Given the description of an element on the screen output the (x, y) to click on. 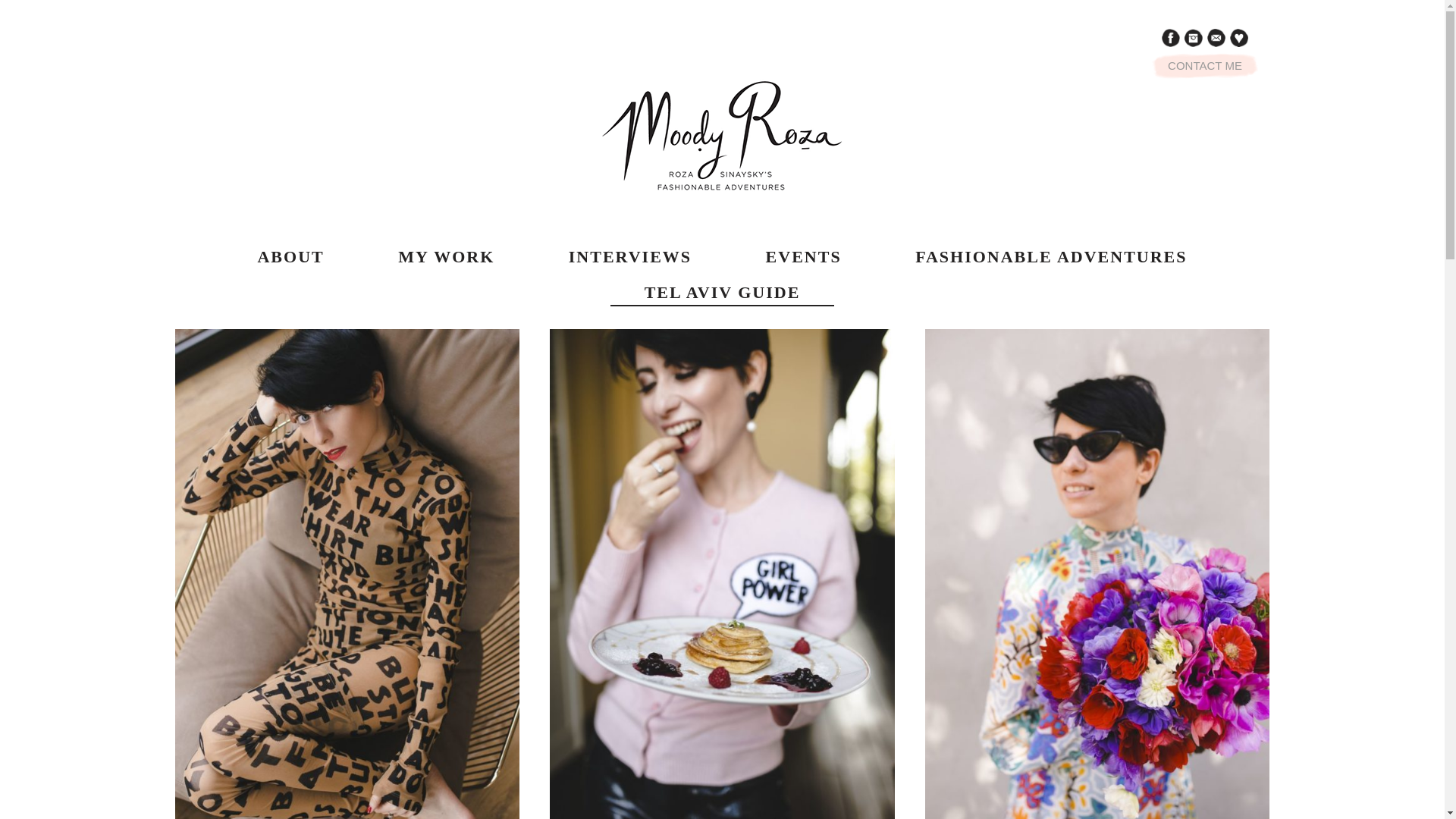
FASHIONABLE ADVENTURES (1050, 251)
EVENTS (804, 251)
SKIP TO CONTENT (285, 251)
CONTACT ME (1204, 65)
TEL AVIV GUIDE (722, 287)
ABOUT (290, 251)
MY WORK (446, 251)
INTERVIEWS (629, 251)
